Given the description of an element on the screen output the (x, y) to click on. 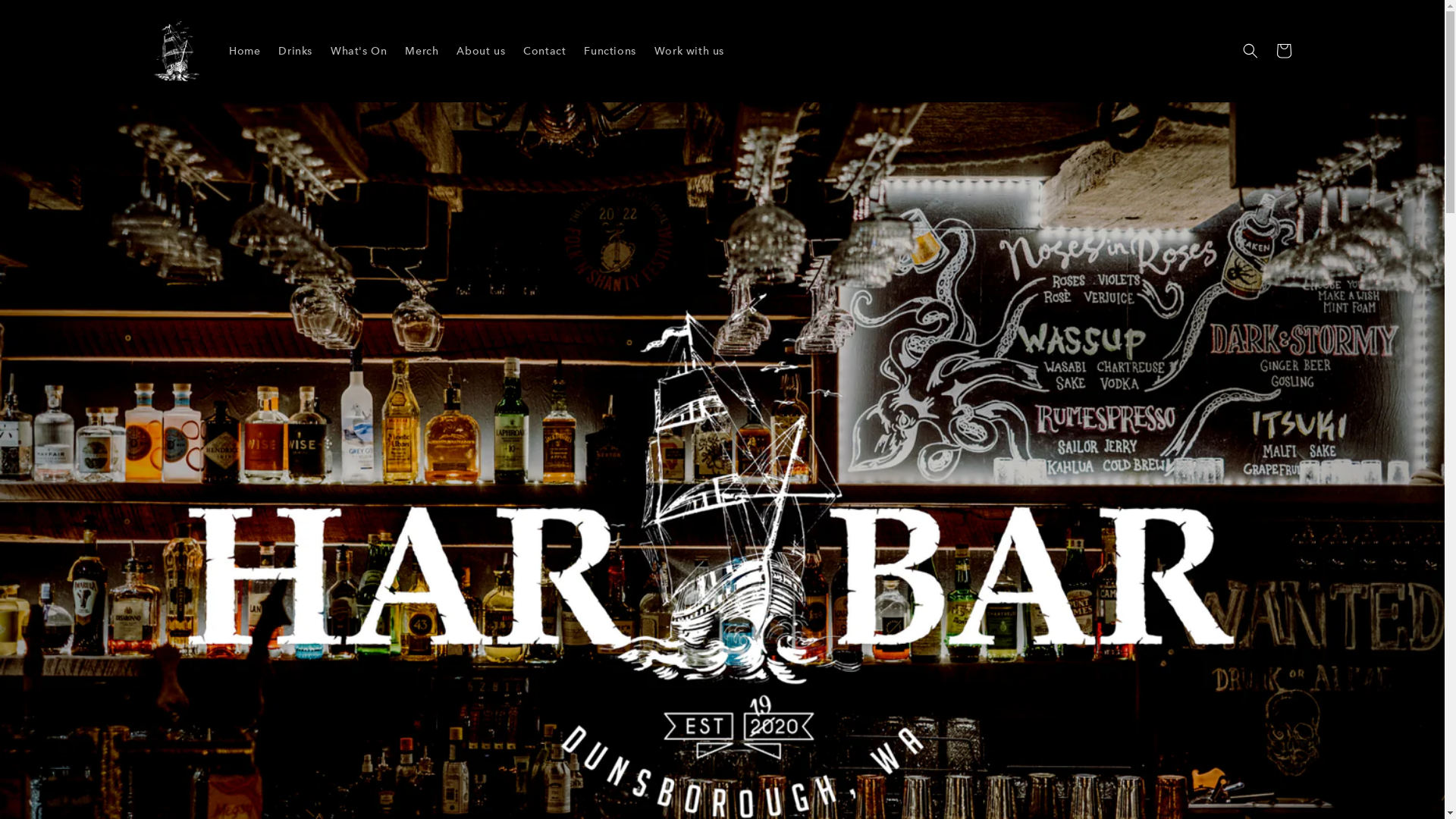
Work with us Element type: text (689, 50)
Functions Element type: text (609, 50)
Drinks Element type: text (295, 50)
Home Element type: text (244, 50)
Cart Element type: text (1282, 50)
Contact Element type: text (544, 50)
About us Element type: text (480, 50)
What's On Element type: text (358, 50)
Merch Element type: text (421, 50)
